Given the description of an element on the screen output the (x, y) to click on. 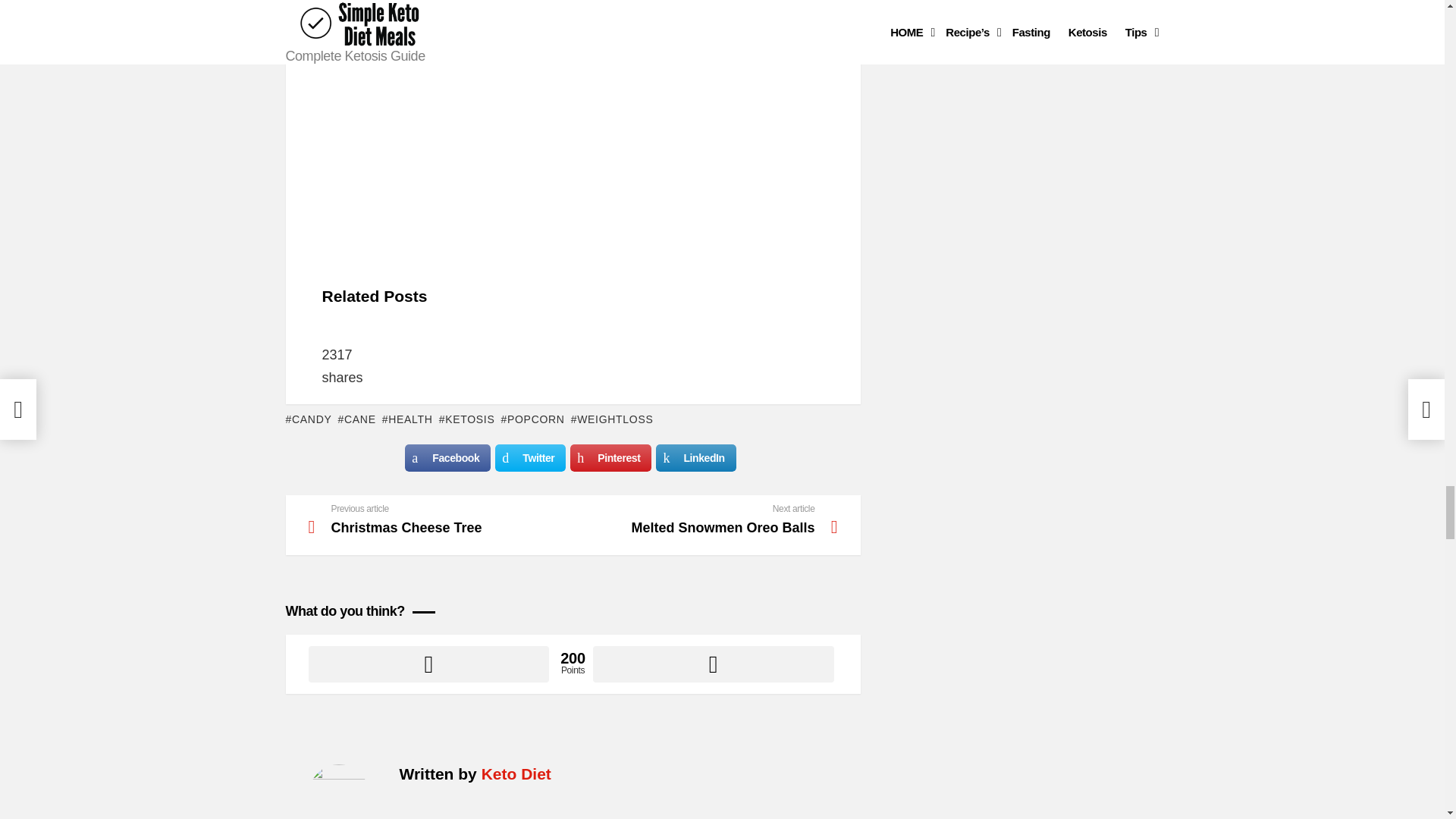
CANE (356, 418)
KETOSIS (467, 418)
POPCORN (532, 418)
CANDY (308, 418)
LinkedIn (695, 457)
Facebook (447, 457)
WEIGHTLOSS (439, 519)
HEALTH (611, 418)
